Given the description of an element on the screen output the (x, y) to click on. 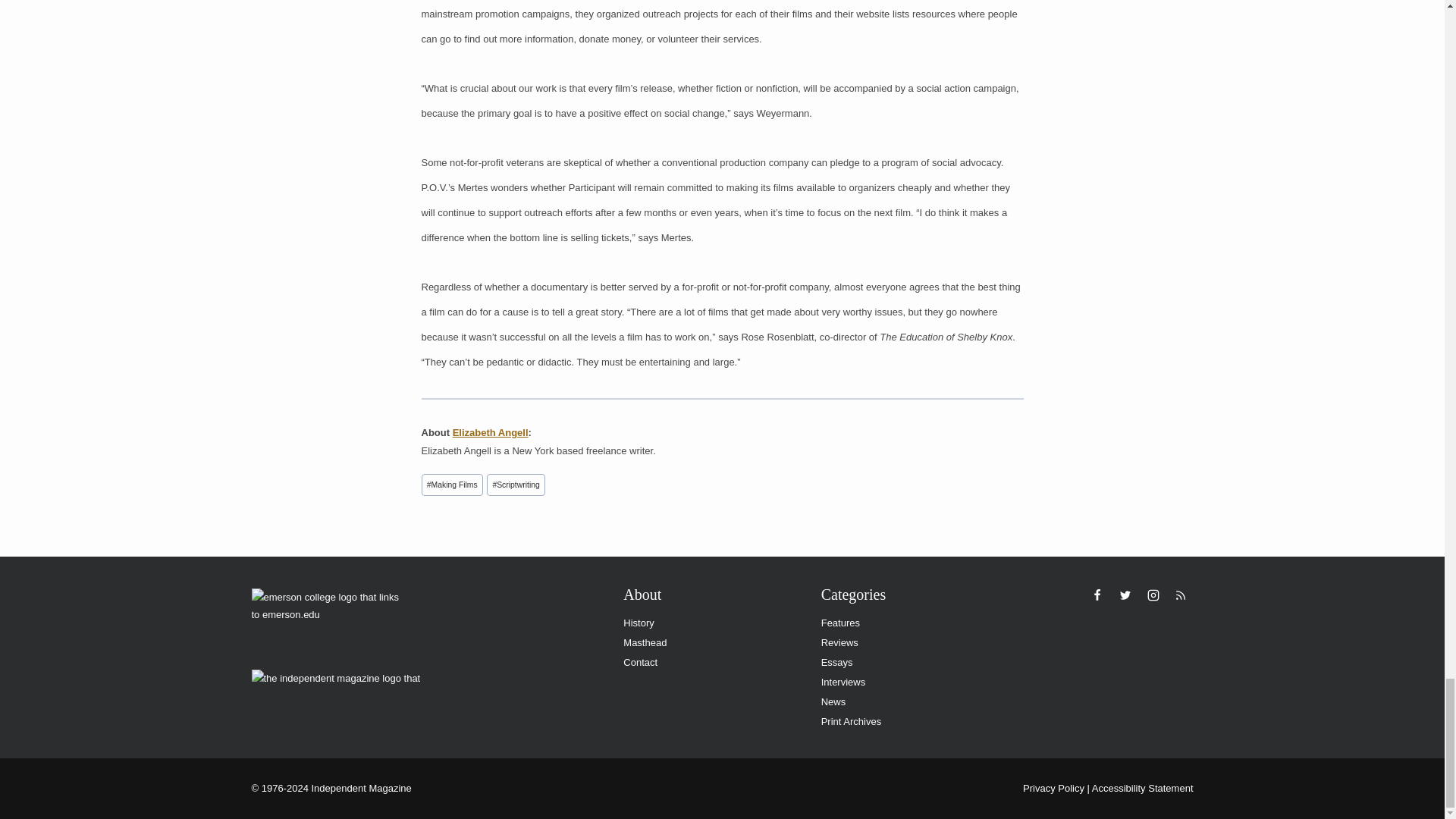
History (710, 623)
Scriptwriting (515, 485)
Accessibility Statement (1142, 787)
Privacy Policy (1053, 787)
Essays (908, 662)
Interviews (908, 682)
Reviews (908, 642)
Contact (710, 662)
Making Films (452, 485)
Elizabeth Angell (490, 432)
